Given the description of an element on the screen output the (x, y) to click on. 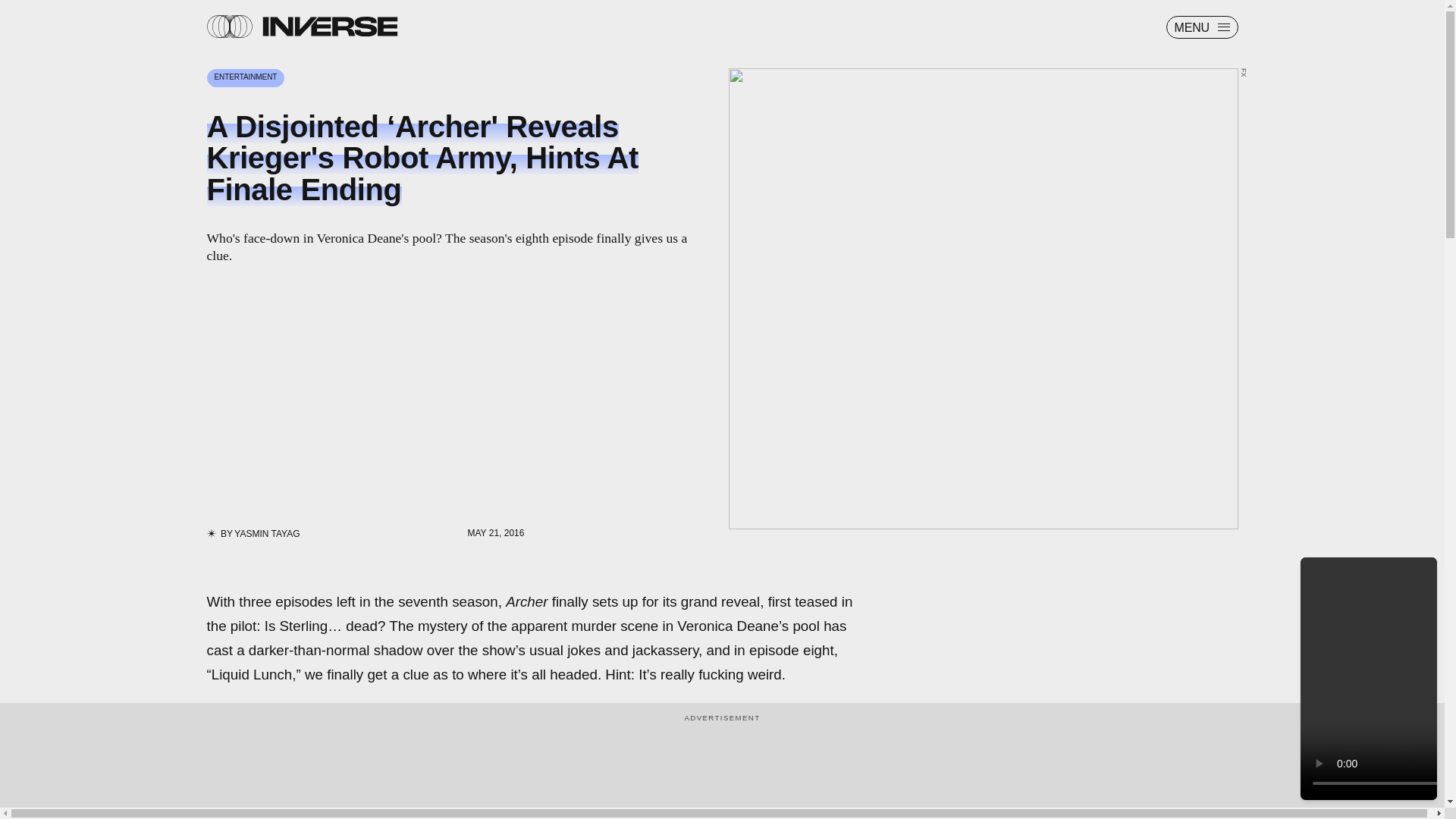
YASMIN TAYAG (266, 533)
Inverse (328, 26)
